Given the description of an element on the screen output the (x, y) to click on. 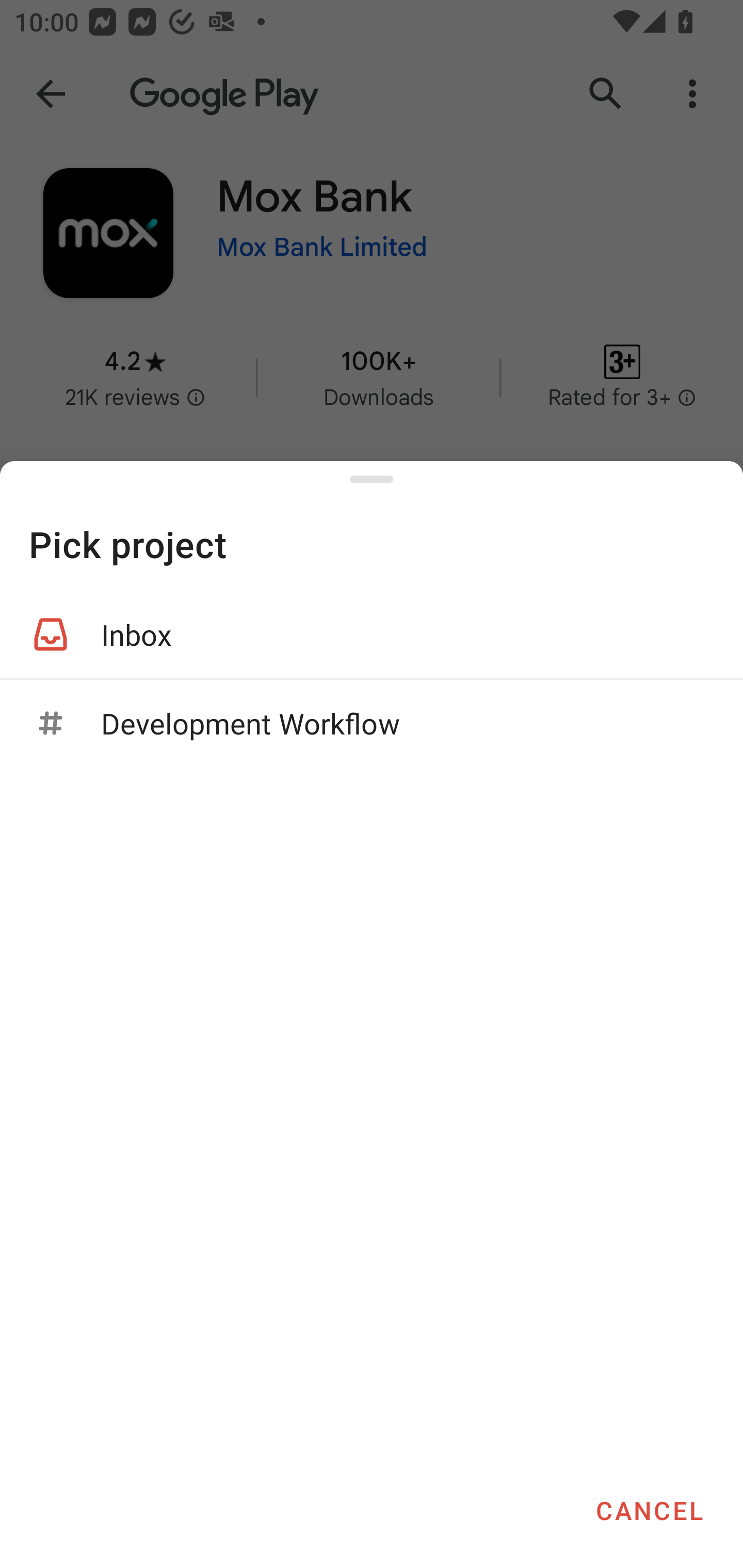
Inbox (371, 634)
Development Workflow (371, 723)
CANCEL (648, 1510)
